Given the description of an element on the screen output the (x, y) to click on. 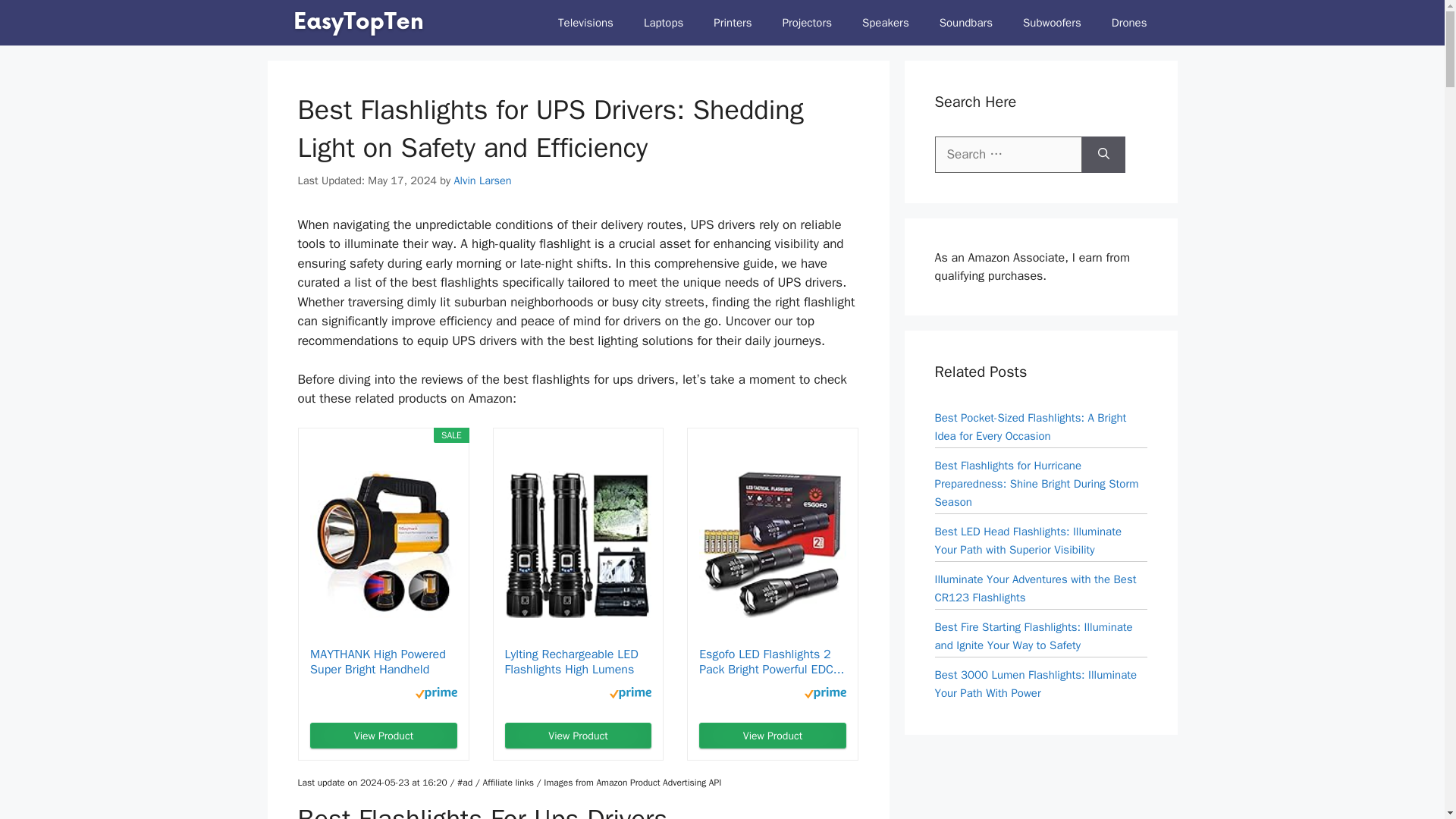
View Product (383, 735)
Soundbars (965, 22)
Esgofo LED Flashlights 2 Pack Bright Powerful EDC... (771, 662)
Speakers (885, 22)
Laptops (663, 22)
Best 3000 Lumen Flashlights: Illuminate Your Path With Power (1035, 683)
Alvin Larsen (481, 180)
